Given the description of an element on the screen output the (x, y) to click on. 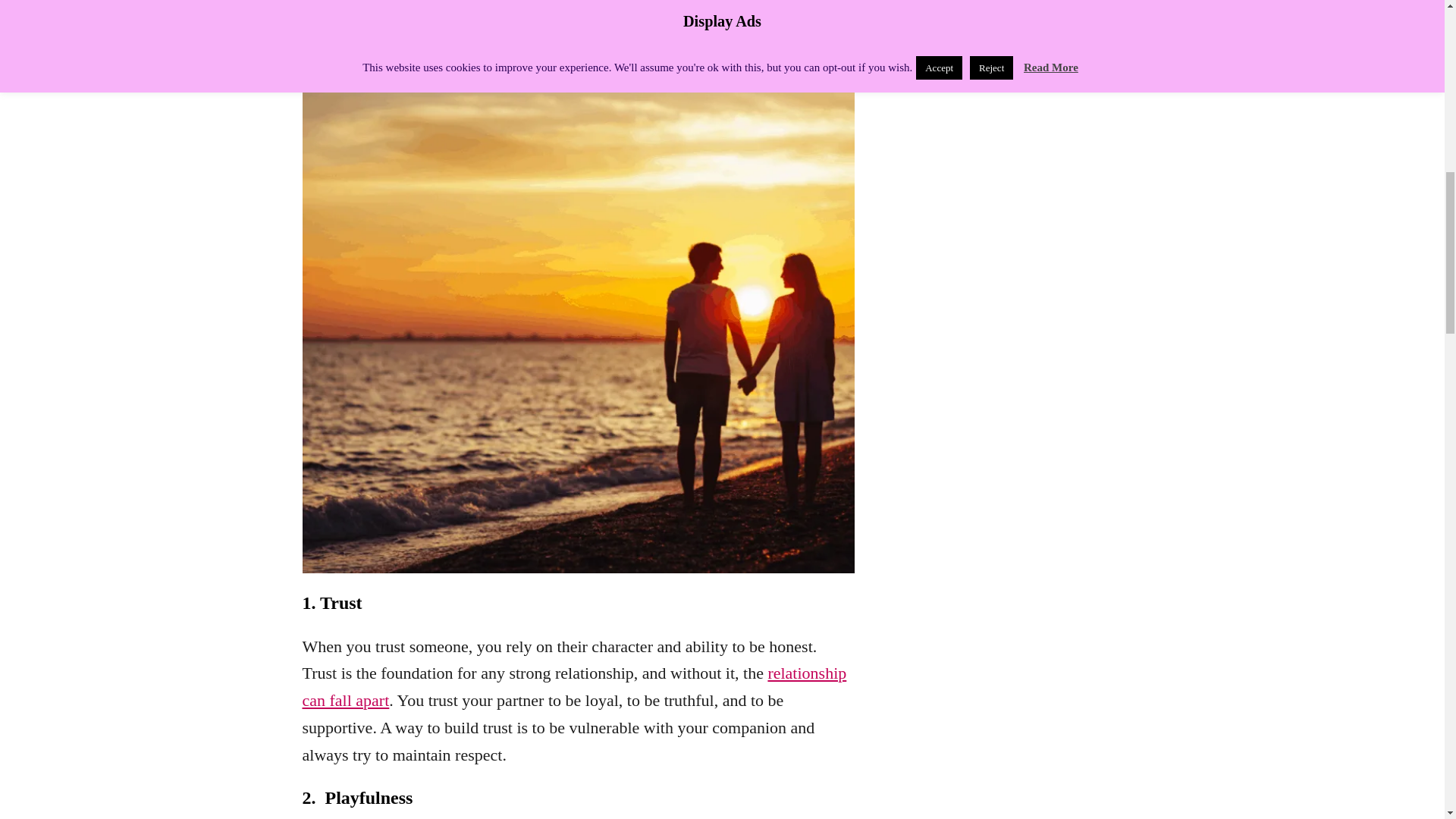
relationship can fall apart (573, 686)
